Given the description of an element on the screen output the (x, y) to click on. 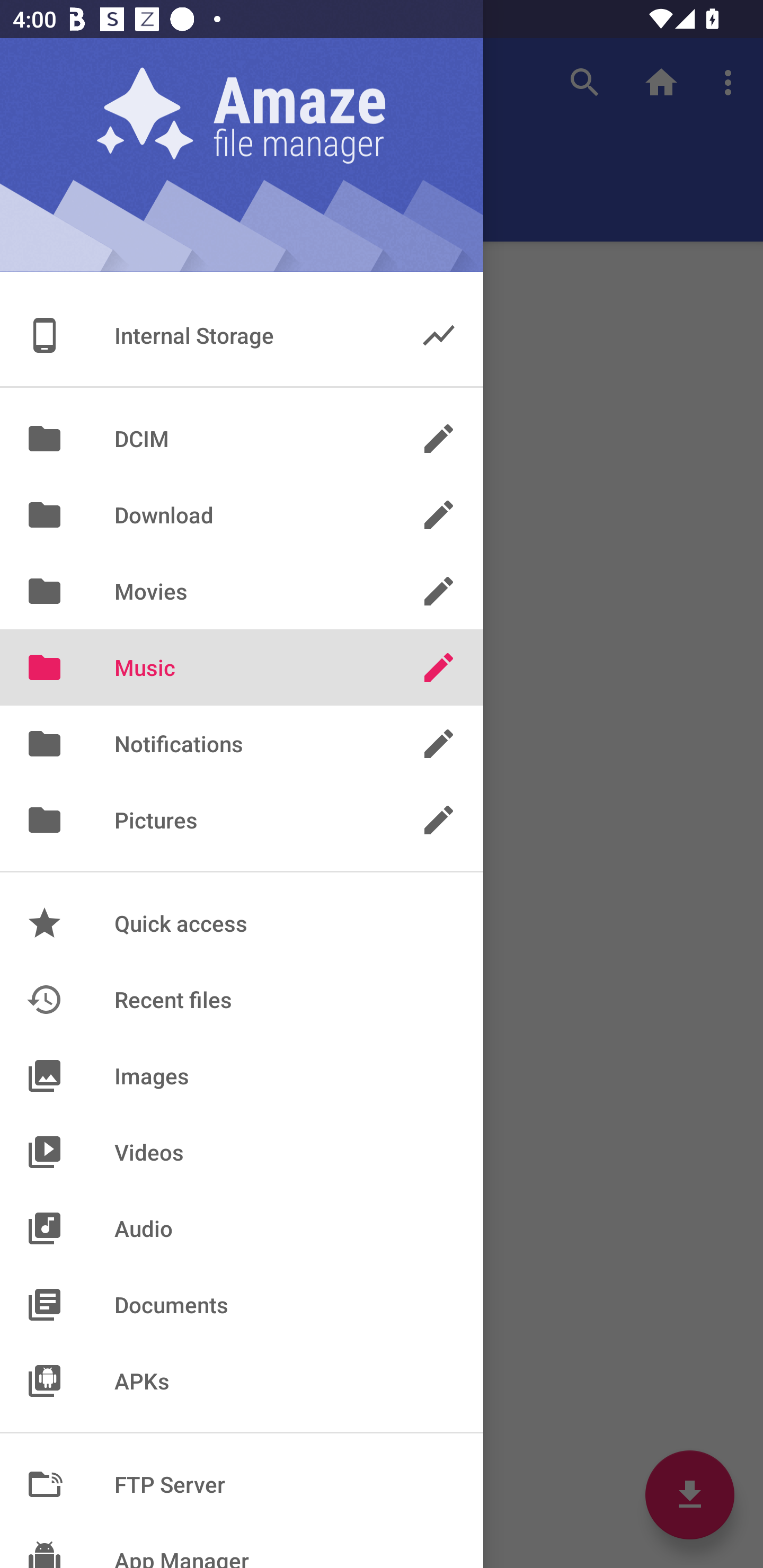
Internal Storage (241, 335)
DCIM (241, 437)
Download (241, 514)
Movies (241, 590)
Music (241, 666)
Notifications (241, 743)
Pictures (241, 819)
Quick access (241, 923)
Recent files (241, 999)
Images (241, 1075)
Videos (241, 1151)
Audio (241, 1228)
Documents (241, 1304)
APKs (241, 1380)
FTP Server (241, 1483)
